Given the description of an element on the screen output the (x, y) to click on. 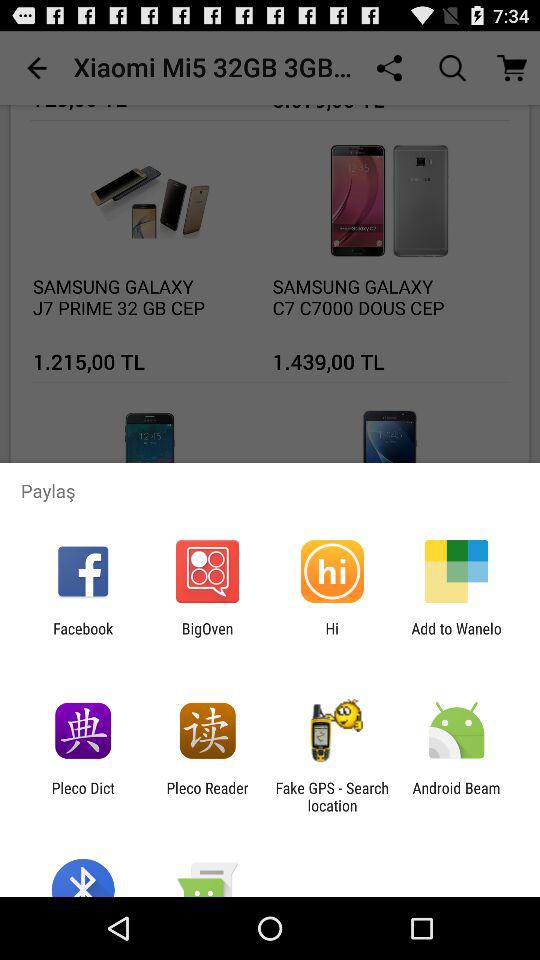
turn off icon to the left of add to wanelo icon (331, 637)
